Given the description of an element on the screen output the (x, y) to click on. 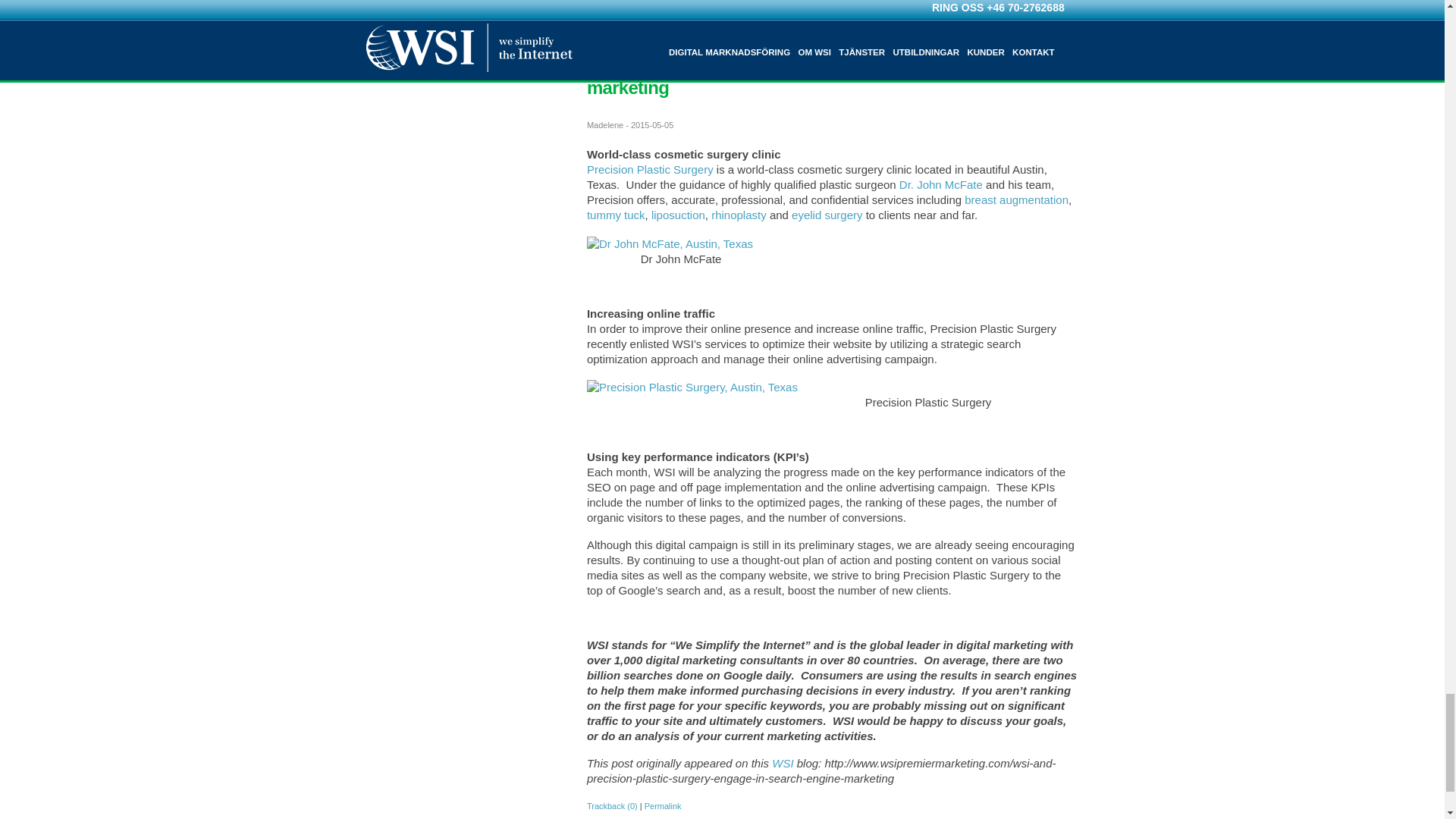
Precision Surgery Clinic, Austin, Texas (691, 386)
WSI Premier Marketing (782, 762)
